Given the description of an element on the screen output the (x, y) to click on. 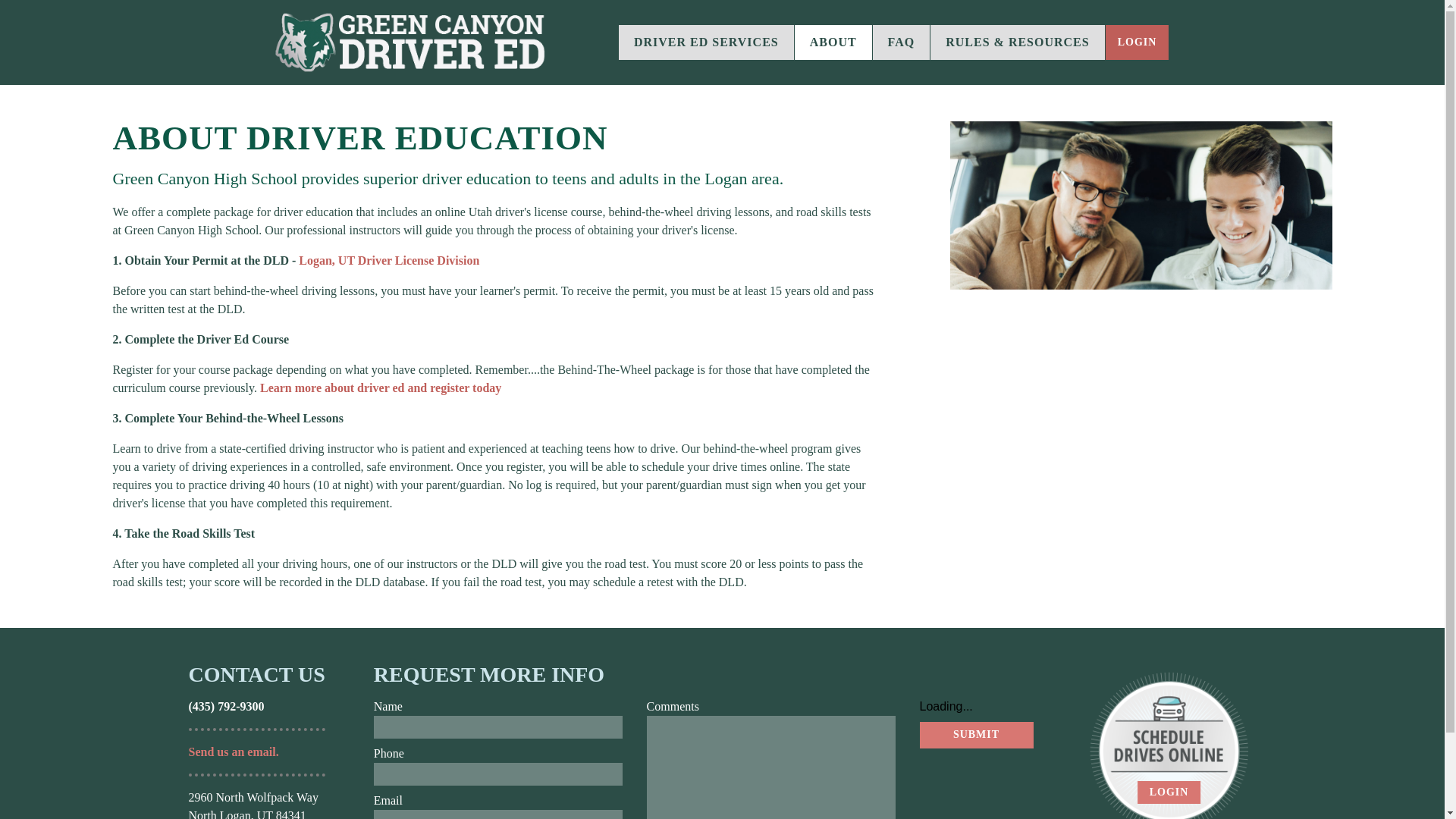
DRIVER ED SERVICES (705, 42)
LOGIN (1137, 42)
ABOUT (833, 42)
Logan DLD (388, 259)
Send us an email. (232, 751)
Logan, UT Driver License Division (388, 259)
Learn more about driver ed and register today (380, 387)
Submit (975, 734)
FAQ (901, 42)
LOGIN (1169, 792)
